Given the description of an element on the screen output the (x, y) to click on. 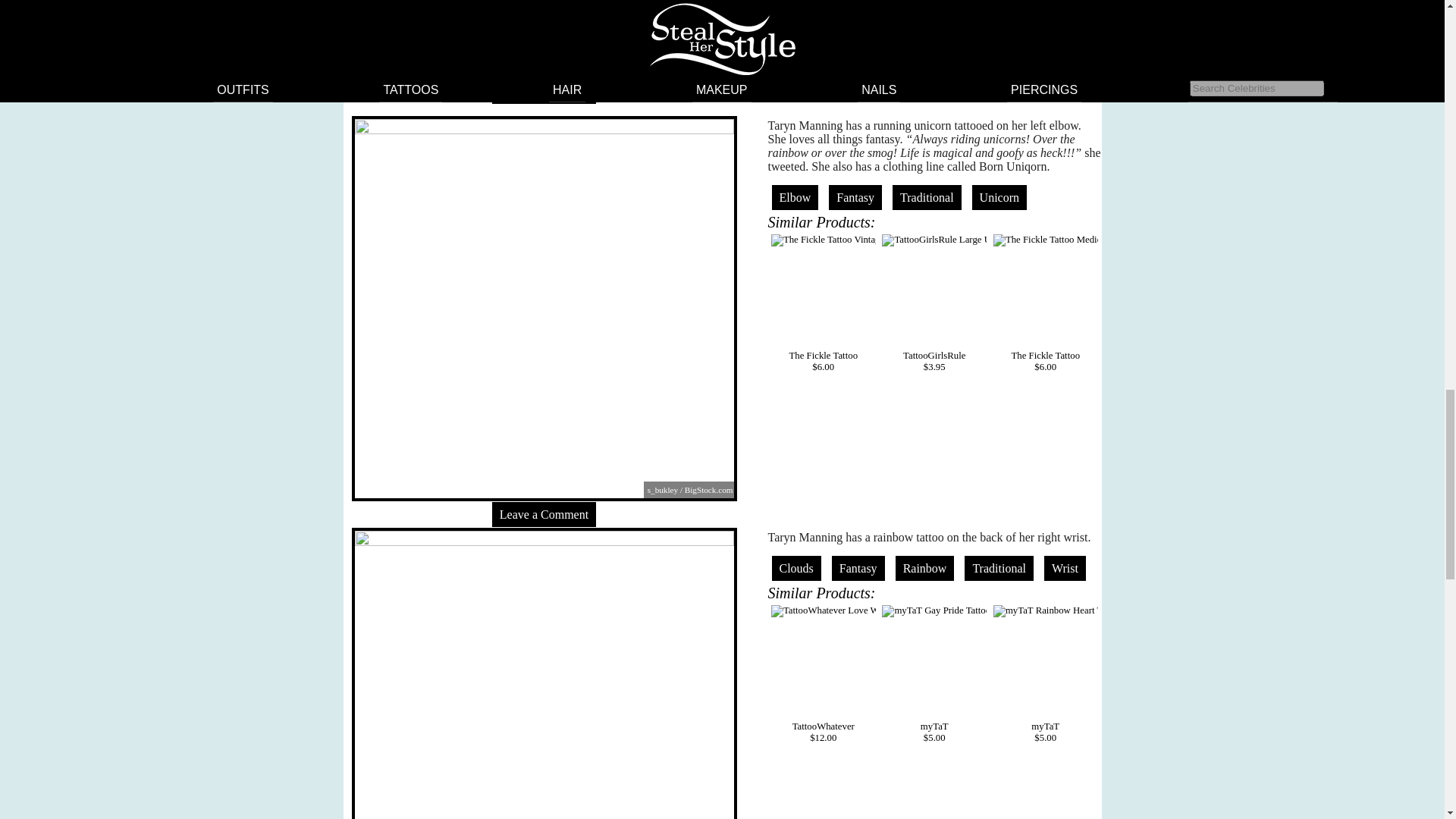
TattooWhatever Love Wins Rainbow Temporary Tattoo Set (823, 611)
The Fickle Tattoo Vintage Unicorn Temporary Tattoos -  (823, 240)
